Given the description of an element on the screen output the (x, y) to click on. 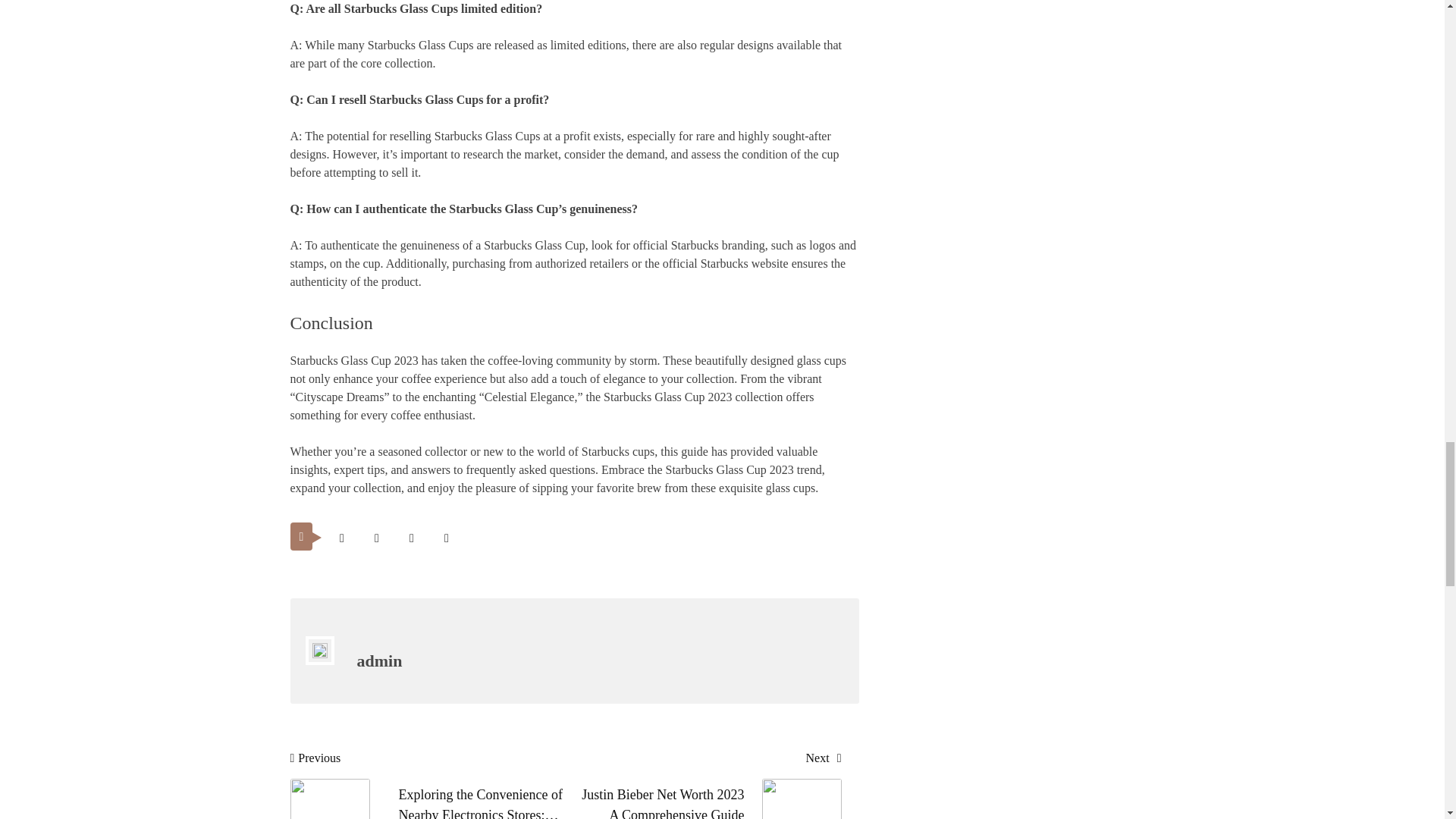
Share on Pinterest (411, 537)
Share on Facebook (376, 537)
Share on Linkedin (446, 537)
Tweet This! (703, 785)
